Given the description of an element on the screen output the (x, y) to click on. 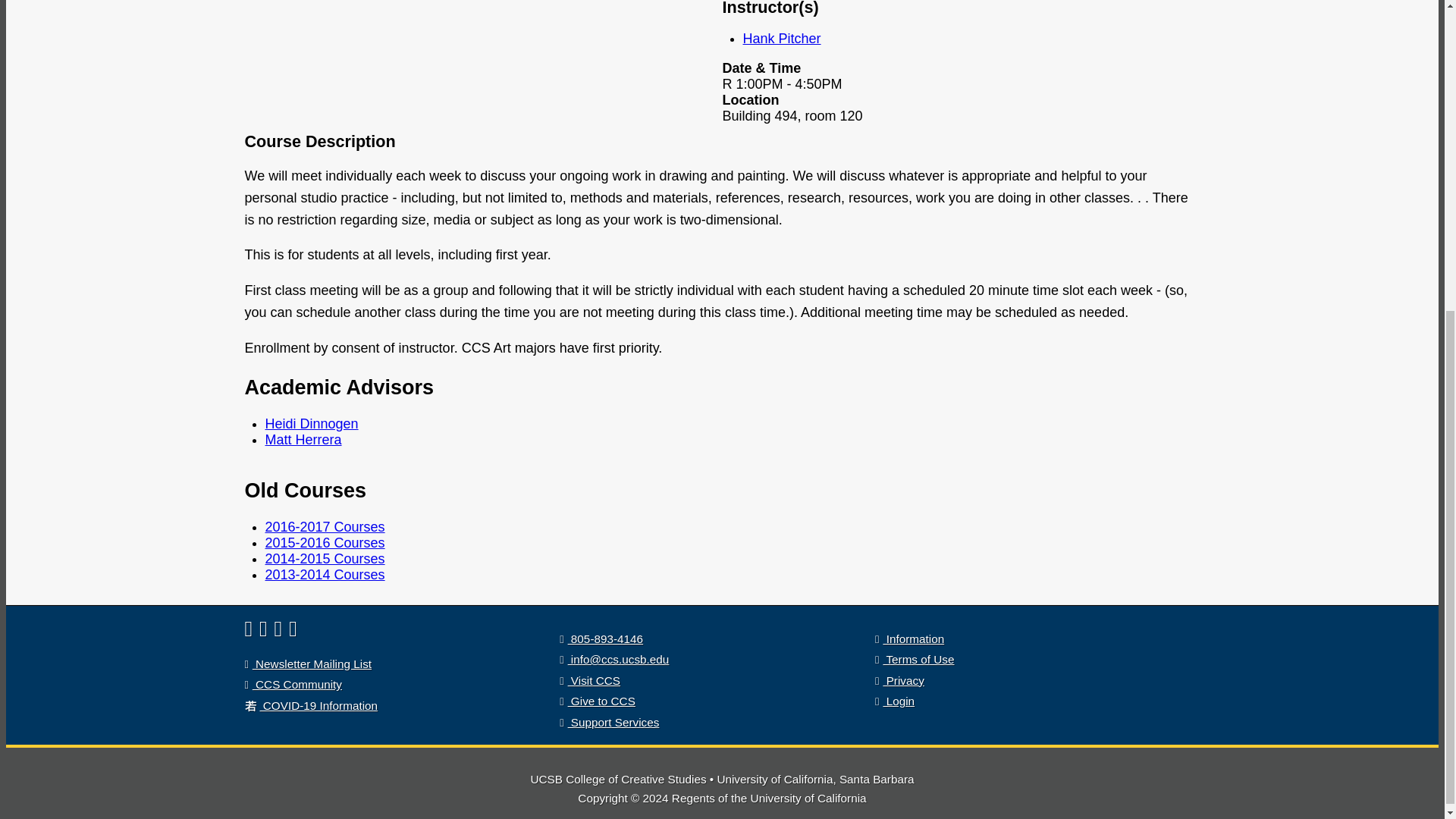
2015-2016 Courses (324, 542)
Visit CCS (589, 680)
COVID-19 Information (310, 705)
Hank Pitcher (781, 38)
Login (894, 700)
Matt Herrera (303, 439)
2016-2017 Courses (324, 526)
Privacy (899, 680)
2013-2014 Courses (324, 574)
2014-2015 Courses (324, 558)
CCS Community (601, 638)
Newsletter Mailing List (292, 684)
Terms of Use (307, 663)
Support Services (914, 658)
